Given the description of an element on the screen output the (x, y) to click on. 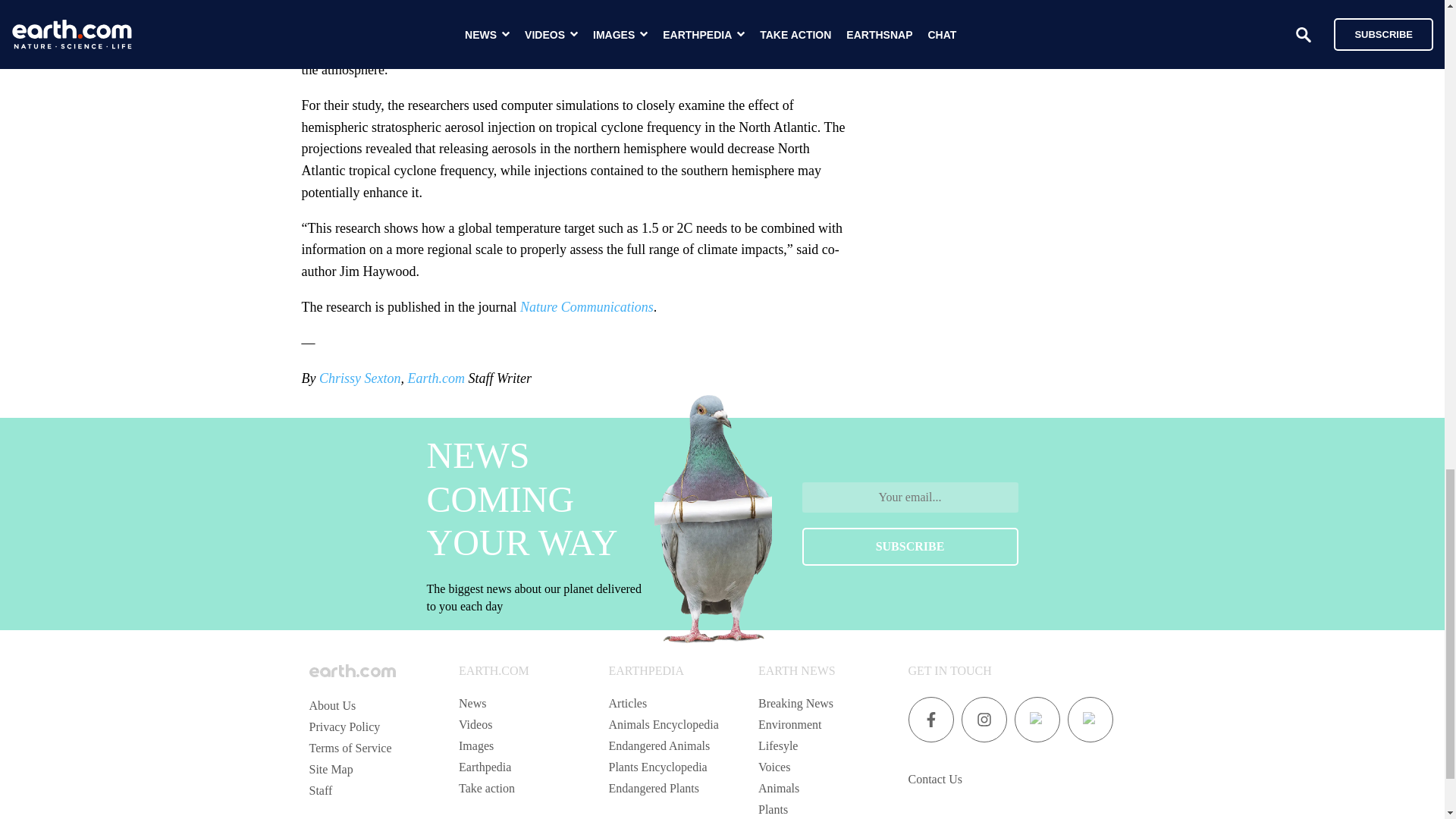
SUBSCRIBE (909, 546)
Earth.com (435, 378)
Nature Communications (586, 306)
Chrissy Sexton (359, 378)
